Given the description of an element on the screen output the (x, y) to click on. 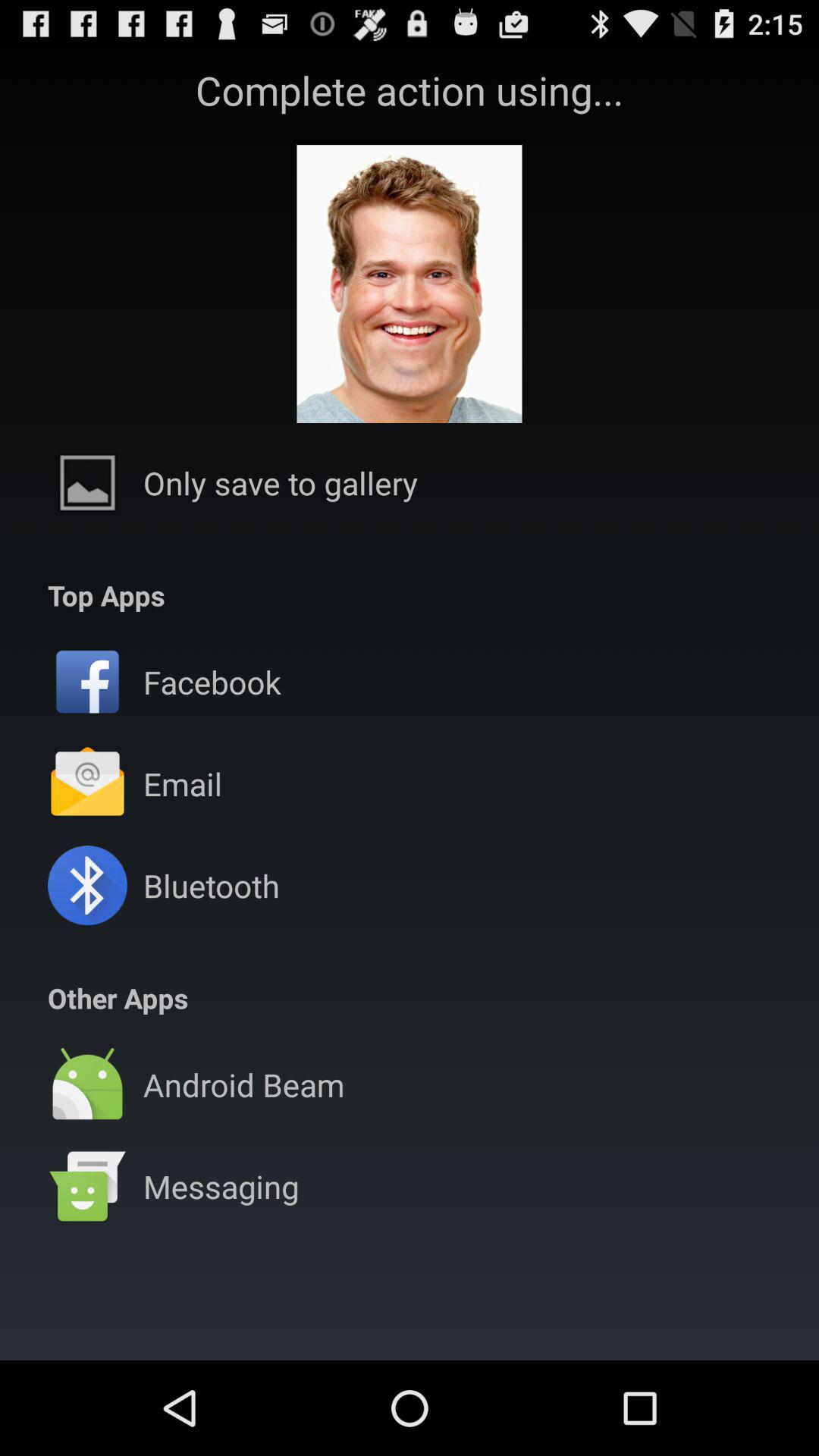
choose the messaging icon (221, 1186)
